Given the description of an element on the screen output the (x, y) to click on. 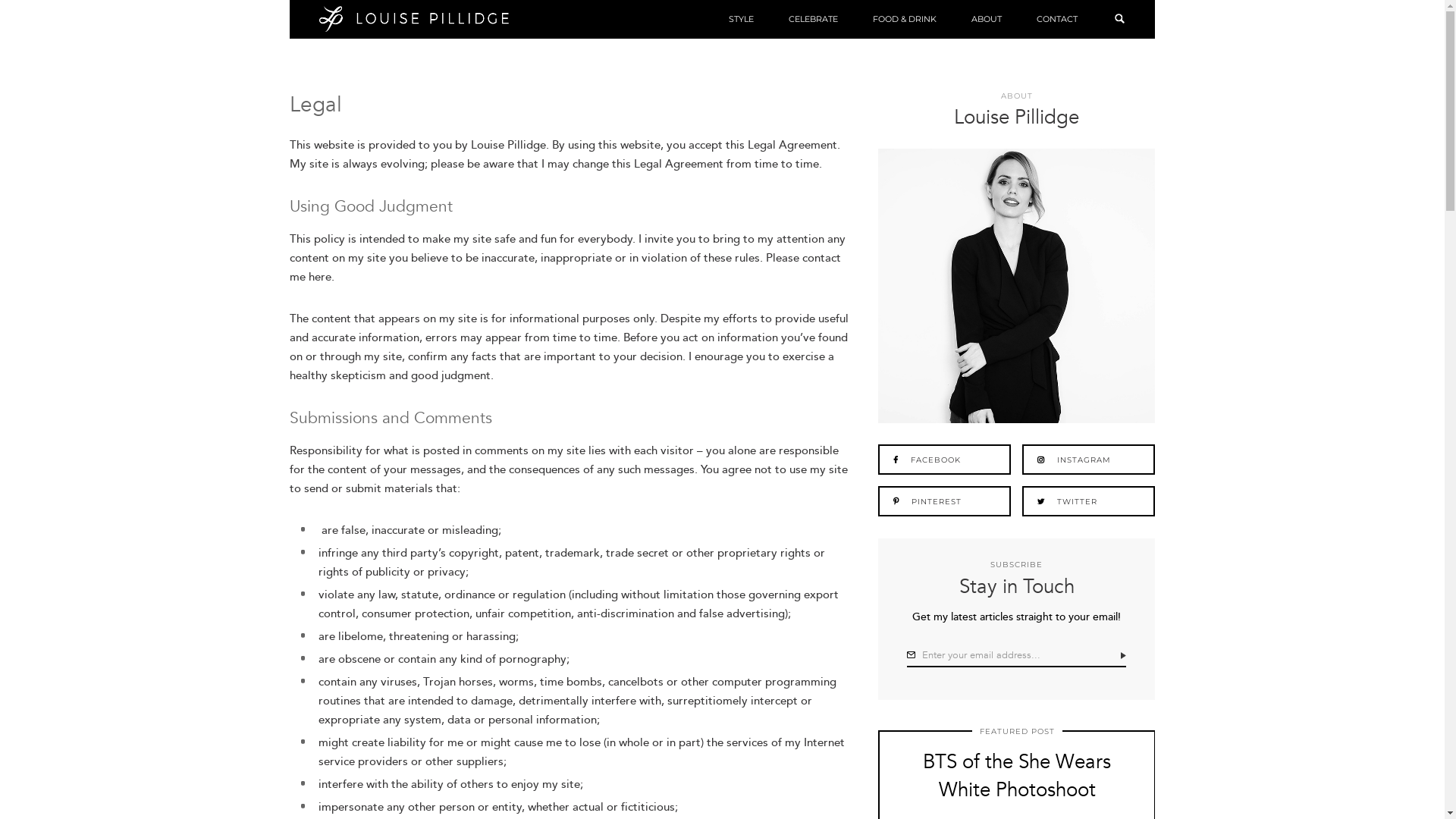
FOOD & DRINK Element type: text (904, 18)
TWITTER Element type: text (1088, 501)
BTS of the She Wears White Photoshoot Element type: text (1016, 776)
STYLE Element type: text (740, 18)
CELEBRATE Element type: text (812, 18)
PINTEREST Element type: text (944, 501)
FACEBOOK Element type: text (944, 459)
ABOUT Element type: text (986, 18)
CONTACT Element type: text (1056, 18)
INSTAGRAM Element type: text (1088, 459)
